Given the description of an element on the screen output the (x, y) to click on. 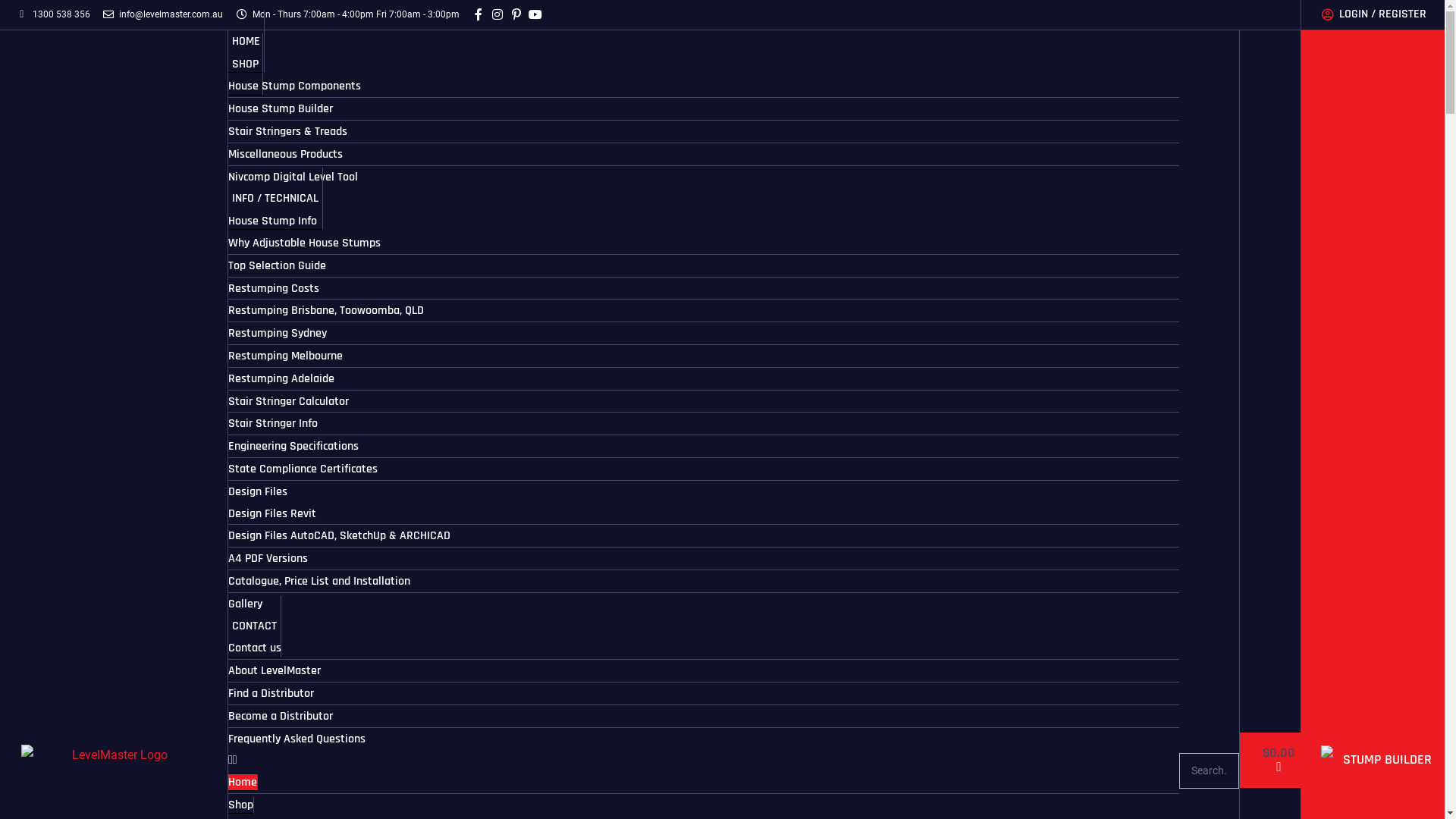
State Compliance Certificates Element type: text (302, 468)
Restumping Melbourne Element type: text (285, 356)
1300 538 356 Element type: text (52, 14)
$0.00 Element type: text (1278, 759)
Home Element type: text (242, 782)
Nivcomp Digital Level Tool Element type: text (292, 177)
Design Files Revit Element type: text (272, 513)
Miscellaneous Products Element type: text (285, 154)
Stair Stringers & Treads Element type: text (287, 131)
Why Adjustable House Stumps Element type: text (304, 243)
Find a Distributor Element type: text (270, 693)
Search Element type: hover (1209, 770)
Design Files AutoCAD, SketchUp & ARCHICAD Element type: text (339, 535)
Become a Distributor Element type: text (280, 716)
About LevelMaster Element type: text (274, 670)
House Stump Builder Element type: text (280, 108)
Catalogue, Price List and Installation Element type: text (319, 581)
SHOP Element type: text (245, 64)
A4 PDF Versions Element type: text (267, 558)
House Stump Components Element type: text (294, 86)
Restumping Costs Element type: text (273, 288)
Contact us Element type: text (254, 647)
CONTACT Element type: text (254, 626)
Frequently Asked Questions Element type: text (296, 738)
Gallery Element type: text (245, 603)
Engineering Specifications Element type: text (293, 446)
STUMP BUILDER Element type: text (1386, 759)
House Stump Info Element type: text (272, 221)
Restumping Sydney Element type: text (277, 333)
Design Files Element type: text (257, 491)
Stair Stringer Calculator Element type: text (288, 401)
Restumping Brisbane, Toowoomba, QLD Element type: text (325, 310)
Stair Stringer Info Element type: text (272, 423)
Top Selection Guide Element type: text (277, 265)
HOME Element type: text (246, 41)
Shop Element type: text (241, 805)
Restumping Adelaide Element type: text (281, 378)
LOGIN / REGISTER Element type: text (1372, 14)
info@levelmaster.com.au Element type: text (161, 14)
INFO / TECHNICAL Element type: text (275, 198)
